Given the description of an element on the screen output the (x, y) to click on. 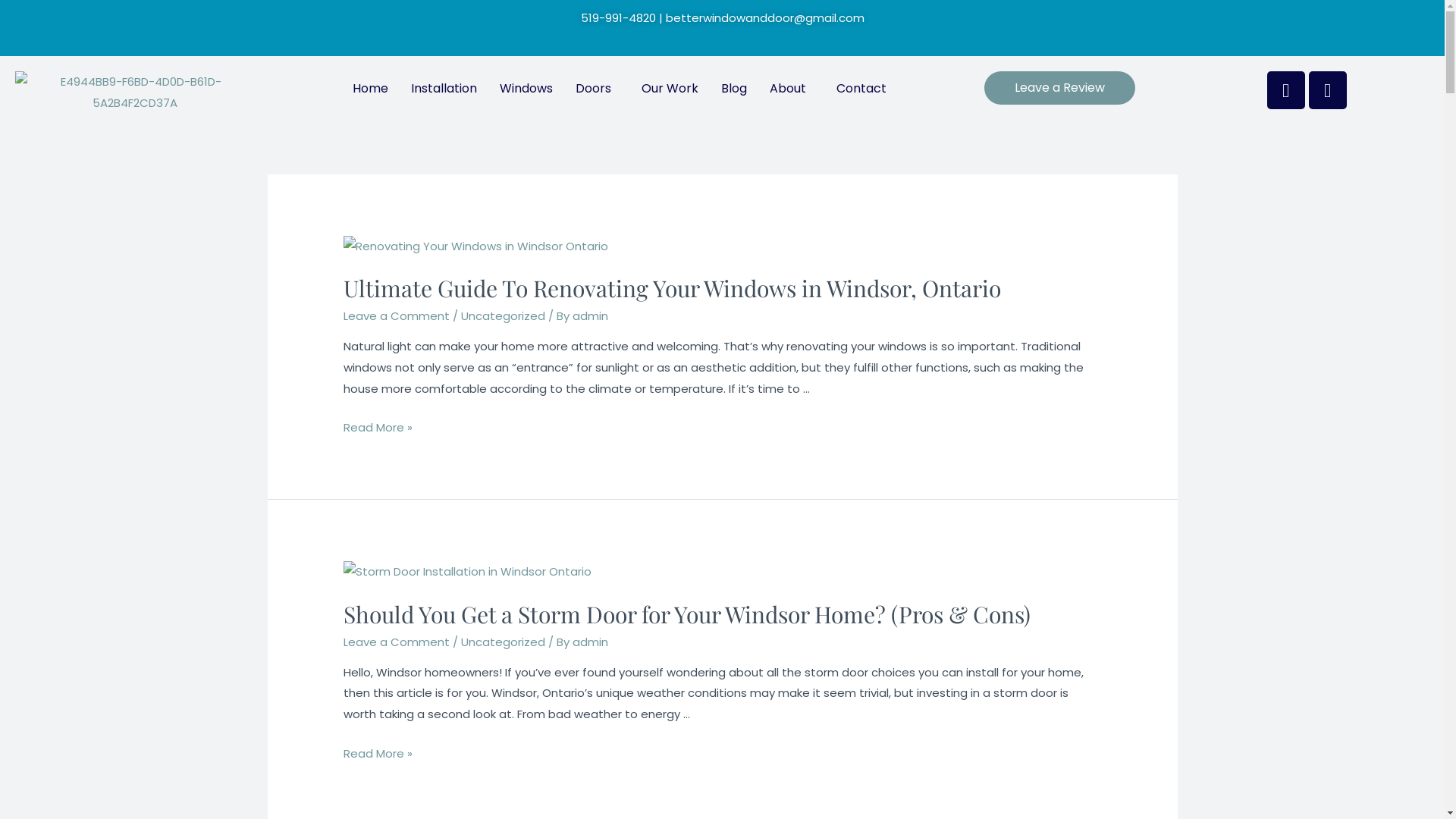
Windows Element type: text (526, 88)
Doors Element type: text (597, 88)
Uncategorized Element type: text (503, 641)
Our Work Element type: text (669, 88)
519-991-4820 Element type: text (617, 17)
Instagram Element type: text (1327, 90)
Leave a Review Element type: text (1059, 87)
Blog Element type: text (733, 88)
Leave a Comment Element type: text (396, 641)
Contact Element type: text (861, 88)
About Element type: text (791, 88)
Installation Element type: text (443, 88)
Leave a Comment Element type: text (396, 315)
Facebook Element type: text (1286, 90)
Uncategorized Element type: text (503, 315)
betterwindowanddoor@gmail.com Element type: text (764, 17)
Home Element type: text (370, 88)
admin Element type: text (590, 315)
admin Element type: text (590, 641)
